Given the description of an element on the screen output the (x, y) to click on. 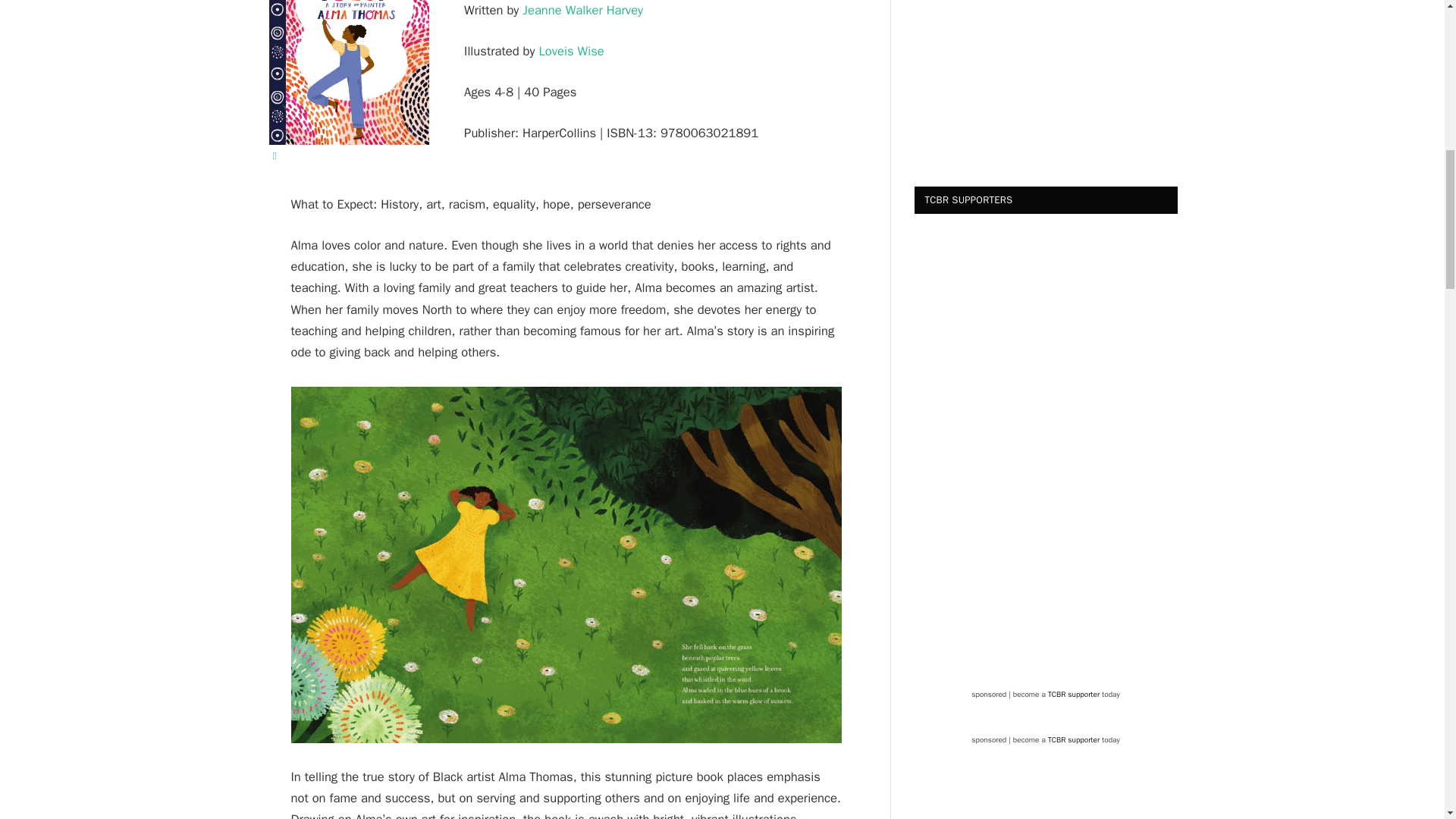
Loveis Wise (571, 50)
Jeanne Walker Harvey (582, 10)
